Given the description of an element on the screen output the (x, y) to click on. 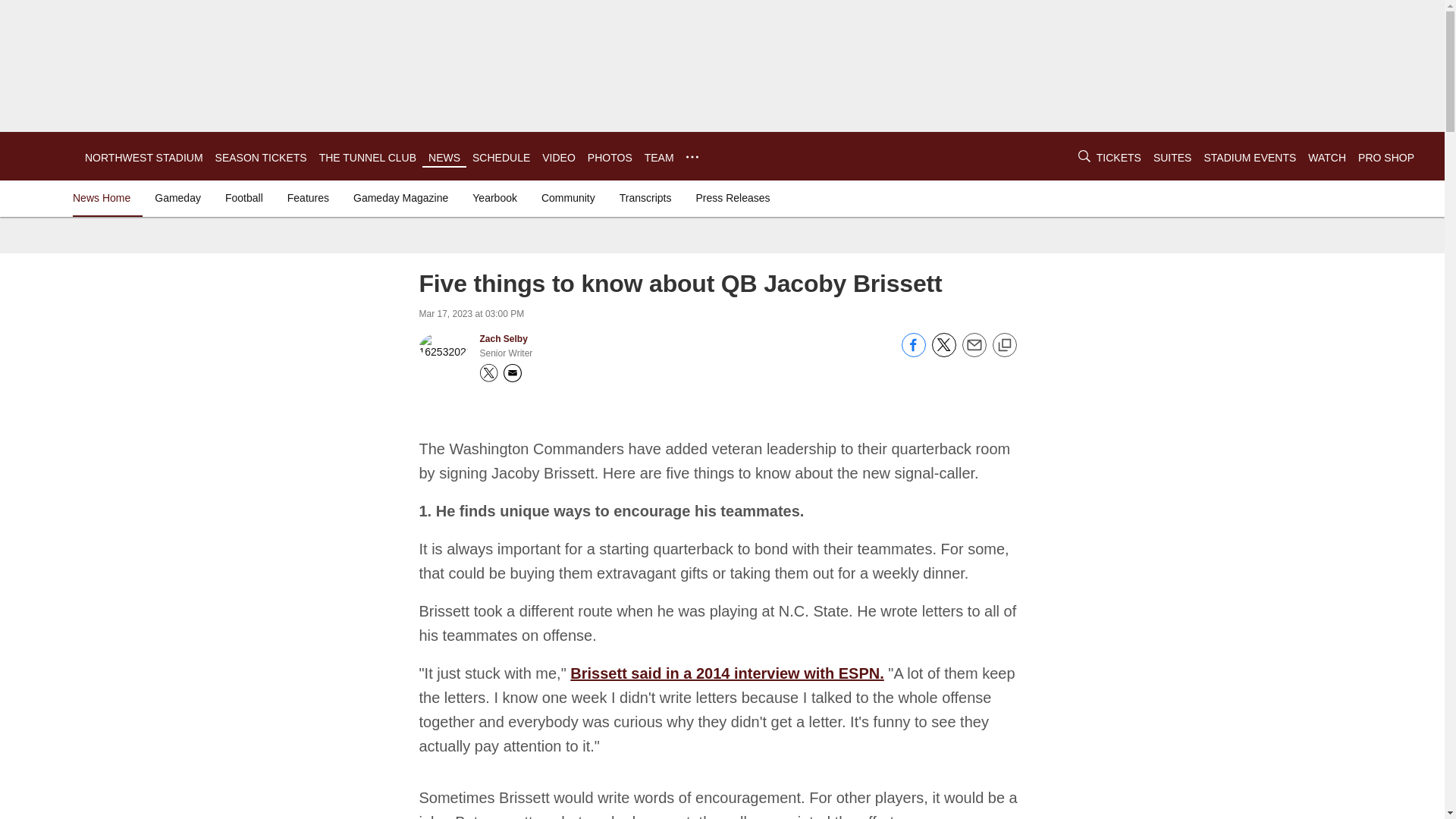
PHOTOS (609, 157)
TICKETS (1118, 157)
SCHEDULE (500, 157)
NEWS (444, 157)
THE TUNNEL CLUB (367, 157)
Gameday Magazine (400, 197)
Transcripts (645, 197)
STADIUM EVENTS (1249, 157)
VIDEO (558, 157)
Gameday (177, 197)
